Given the description of an element on the screen output the (x, y) to click on. 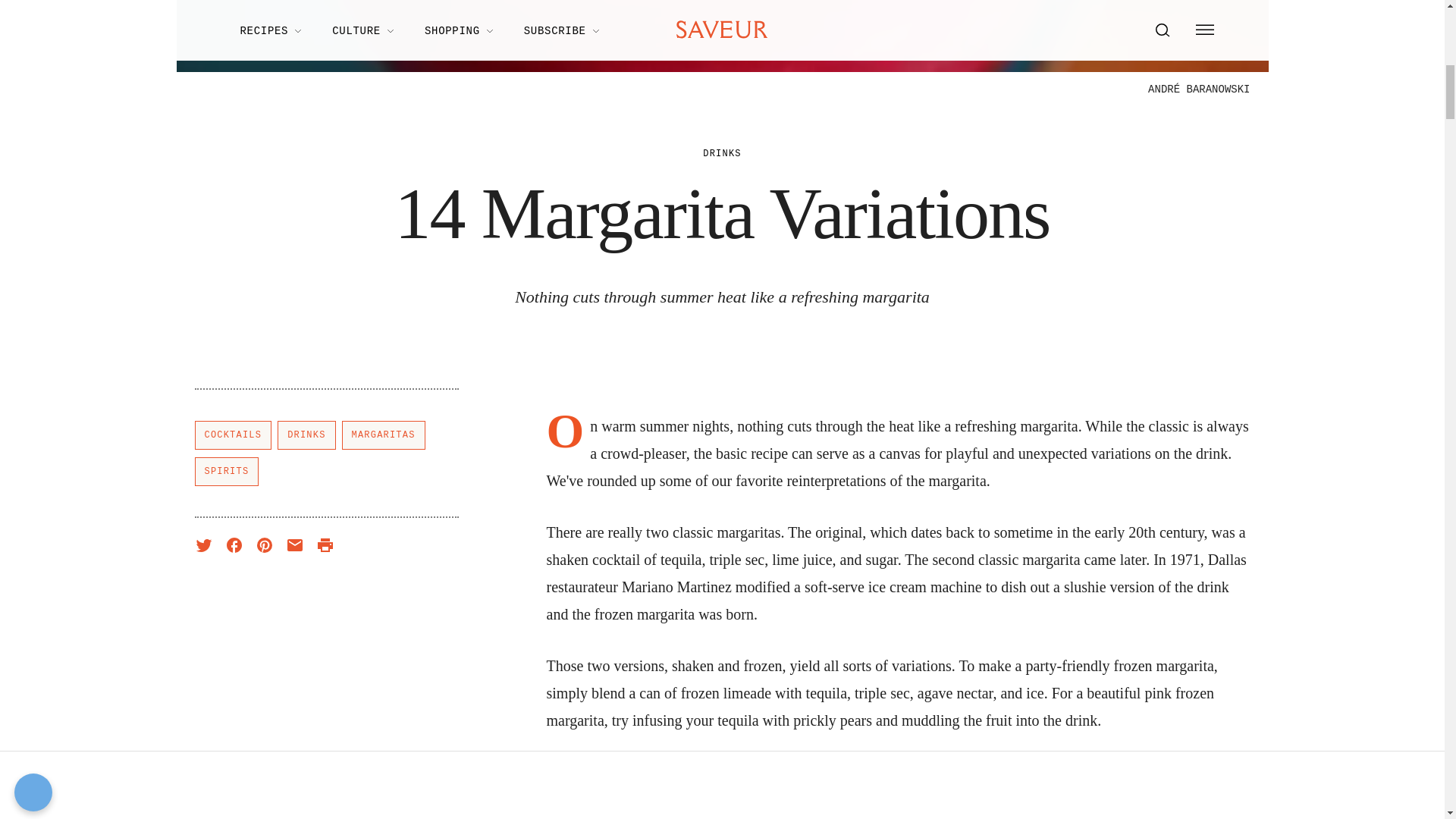
Share on Facebook (233, 545)
Share on Twitter (202, 545)
COCKTAILS (231, 434)
DRINKS (306, 434)
SPIRITS (226, 471)
DRINKS (722, 153)
MARGARITAS (383, 434)
